Given the description of an element on the screen output the (x, y) to click on. 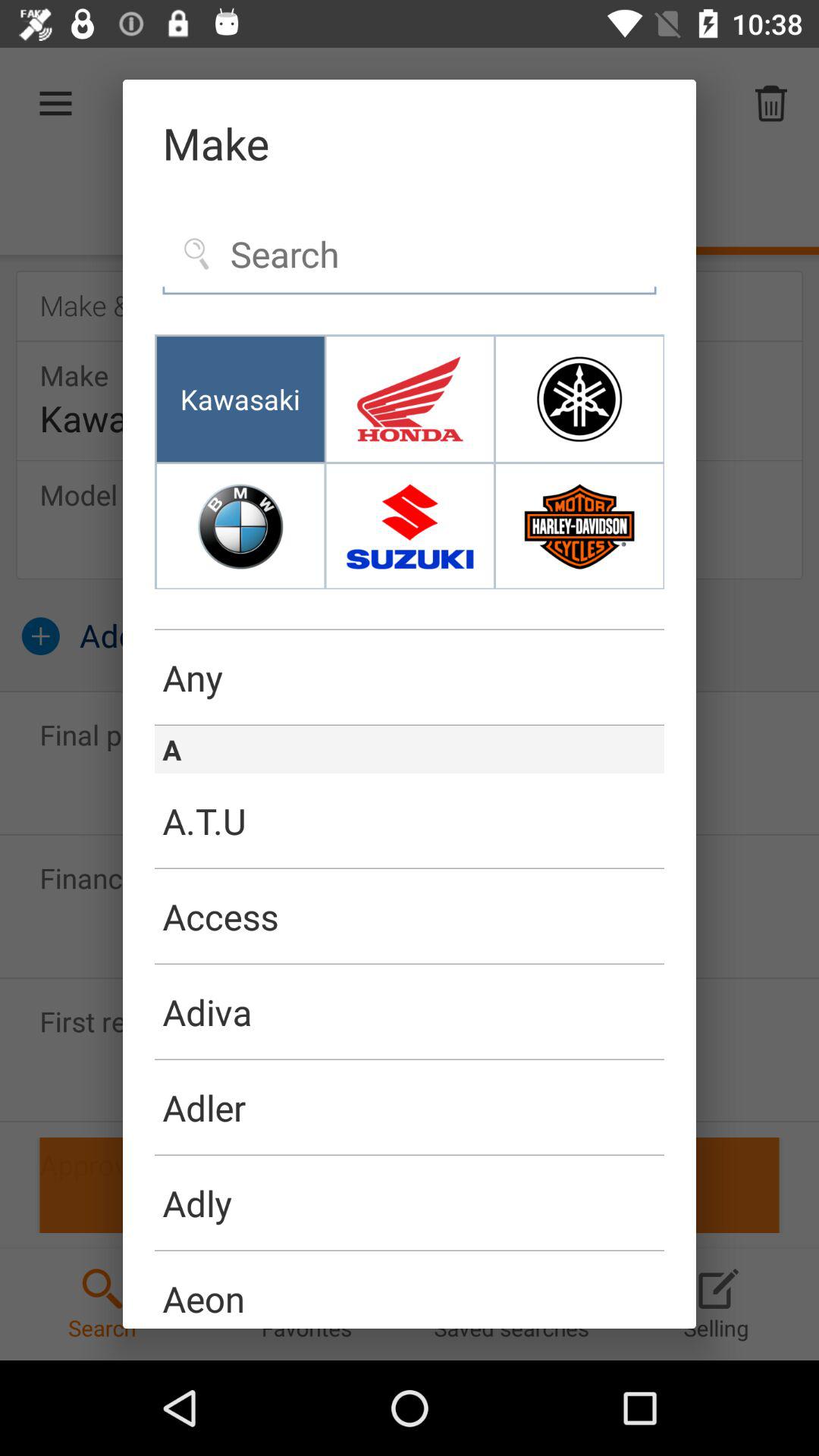
tap item below the adiva (409, 1107)
